Given the description of an element on the screen output the (x, y) to click on. 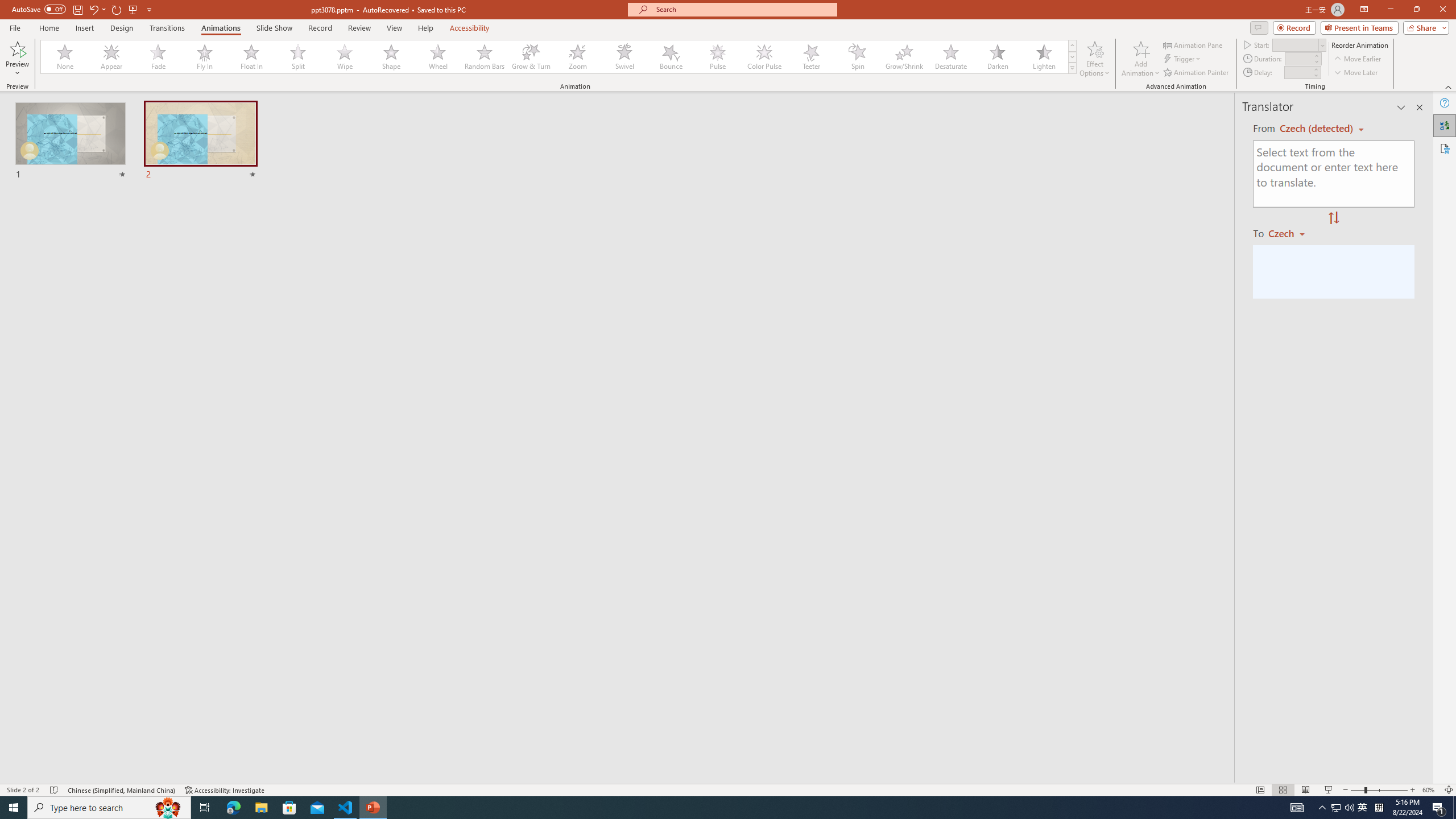
Animation Duration (1298, 58)
Pulse (717, 56)
Spin (857, 56)
Shape (391, 56)
Lighten (1043, 56)
Darken (997, 56)
